Given the description of an element on the screen output the (x, y) to click on. 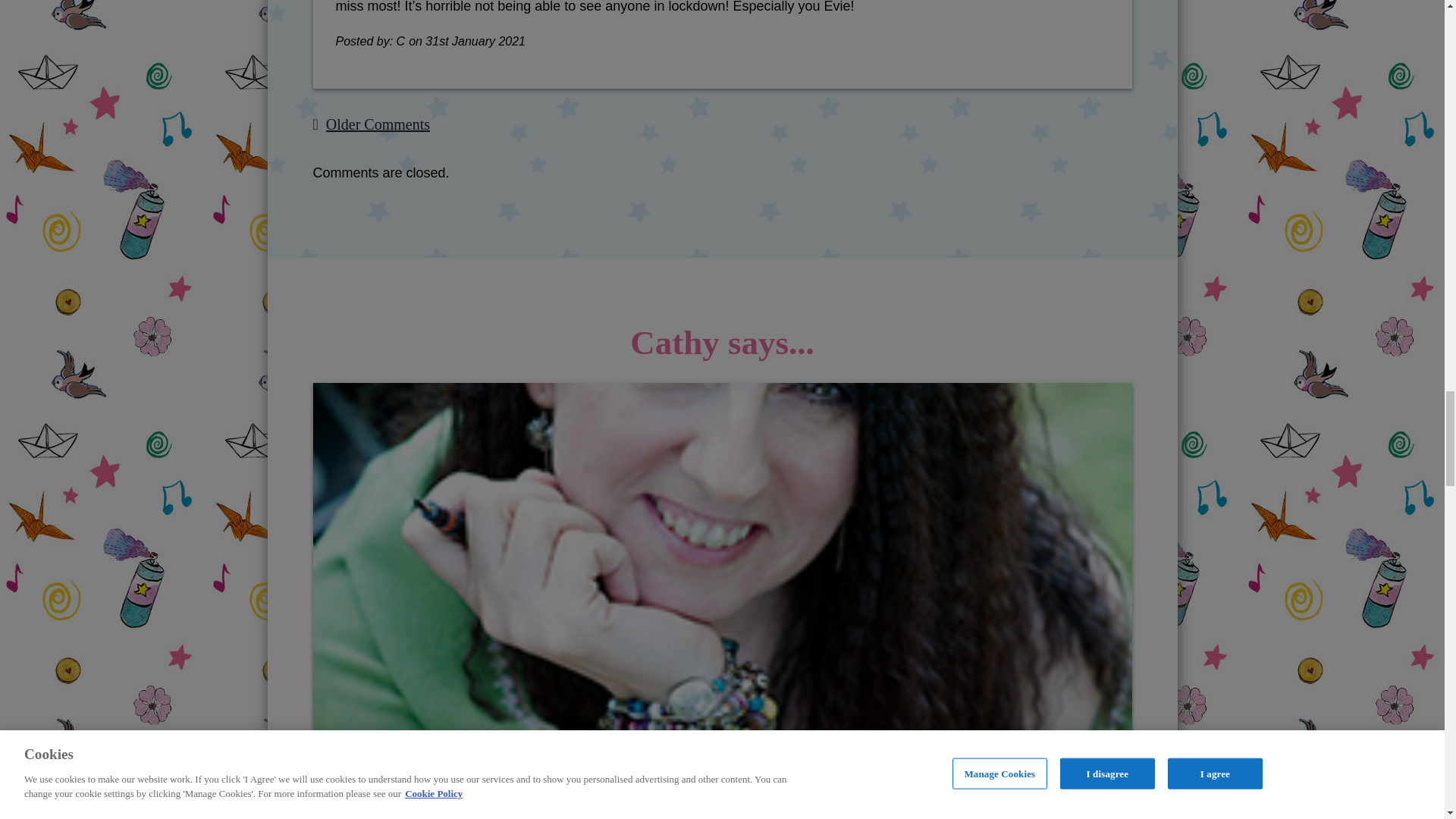
Older Comments (377, 124)
